Given the description of an element on the screen output the (x, y) to click on. 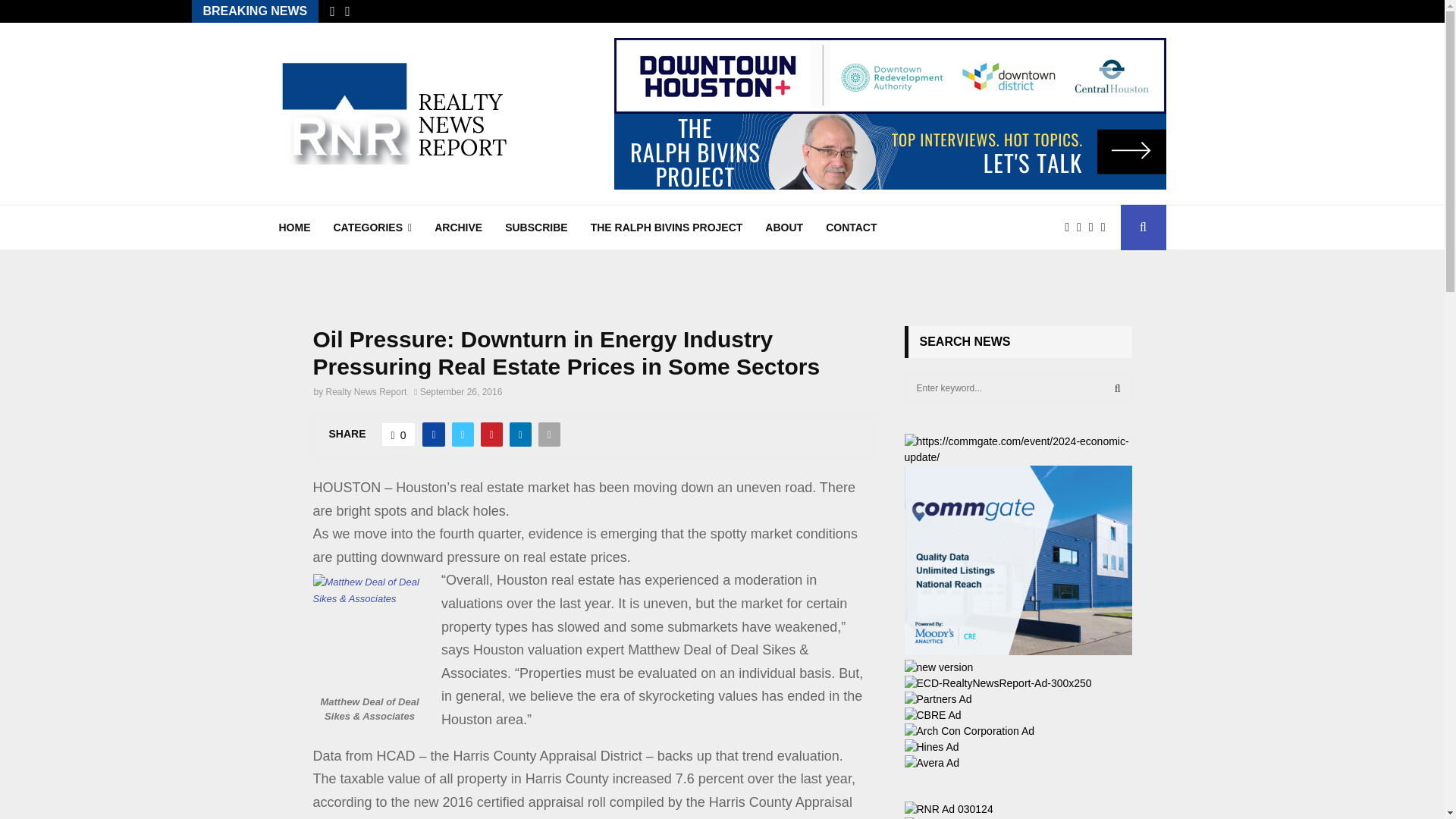
CONTACT (850, 227)
Downtown Houston (890, 75)
CATEGORIES (372, 227)
RNR-RalphBivinsProject-Interviews (890, 151)
THE RALPH BIVINS PROJECT (666, 227)
SUBSCRIBE (536, 227)
Like (398, 434)
ARCHIVE (457, 227)
